Given the description of an element on the screen output the (x, y) to click on. 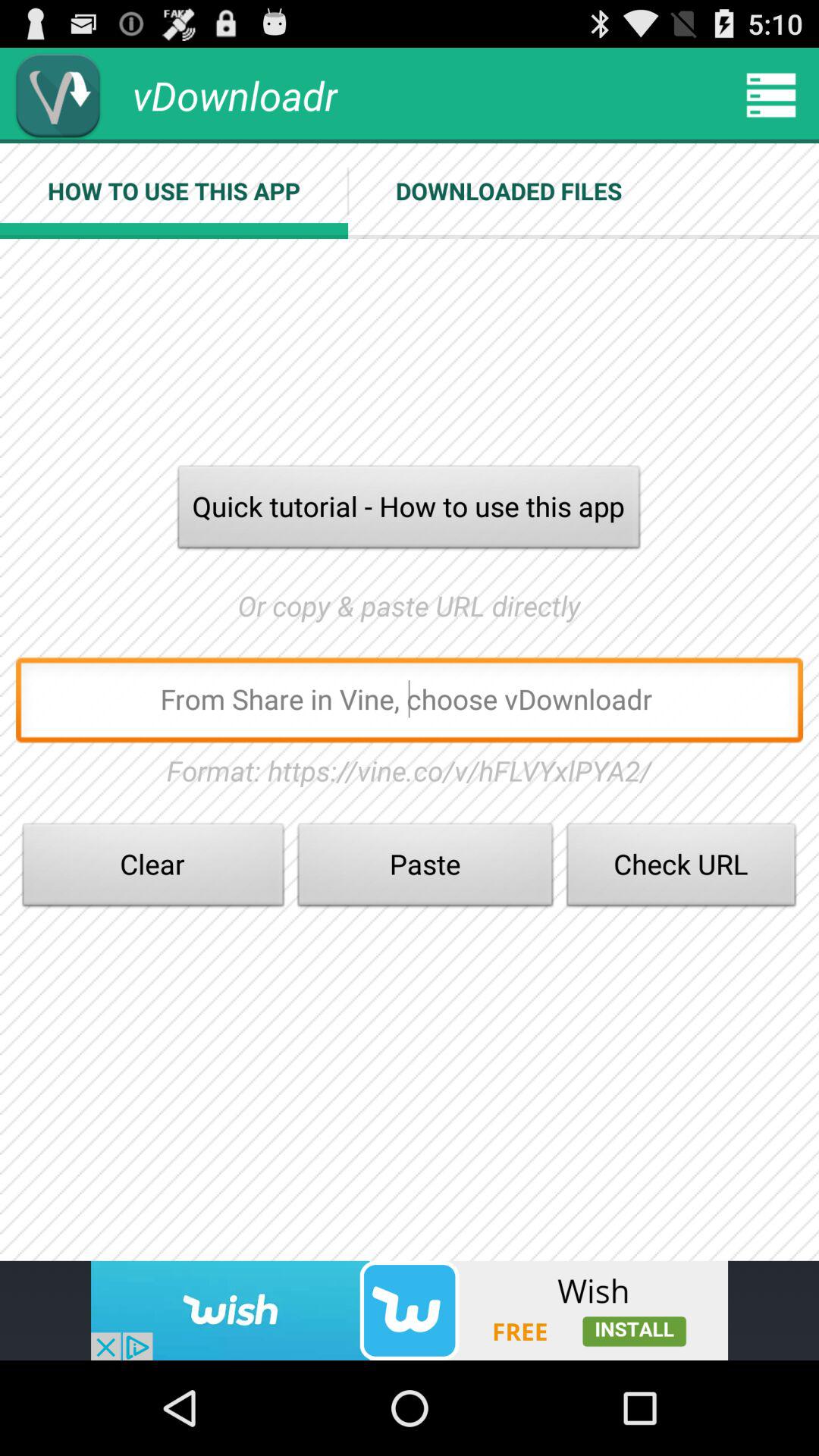
details about advertisement (409, 1310)
